Given the description of an element on the screen output the (x, y) to click on. 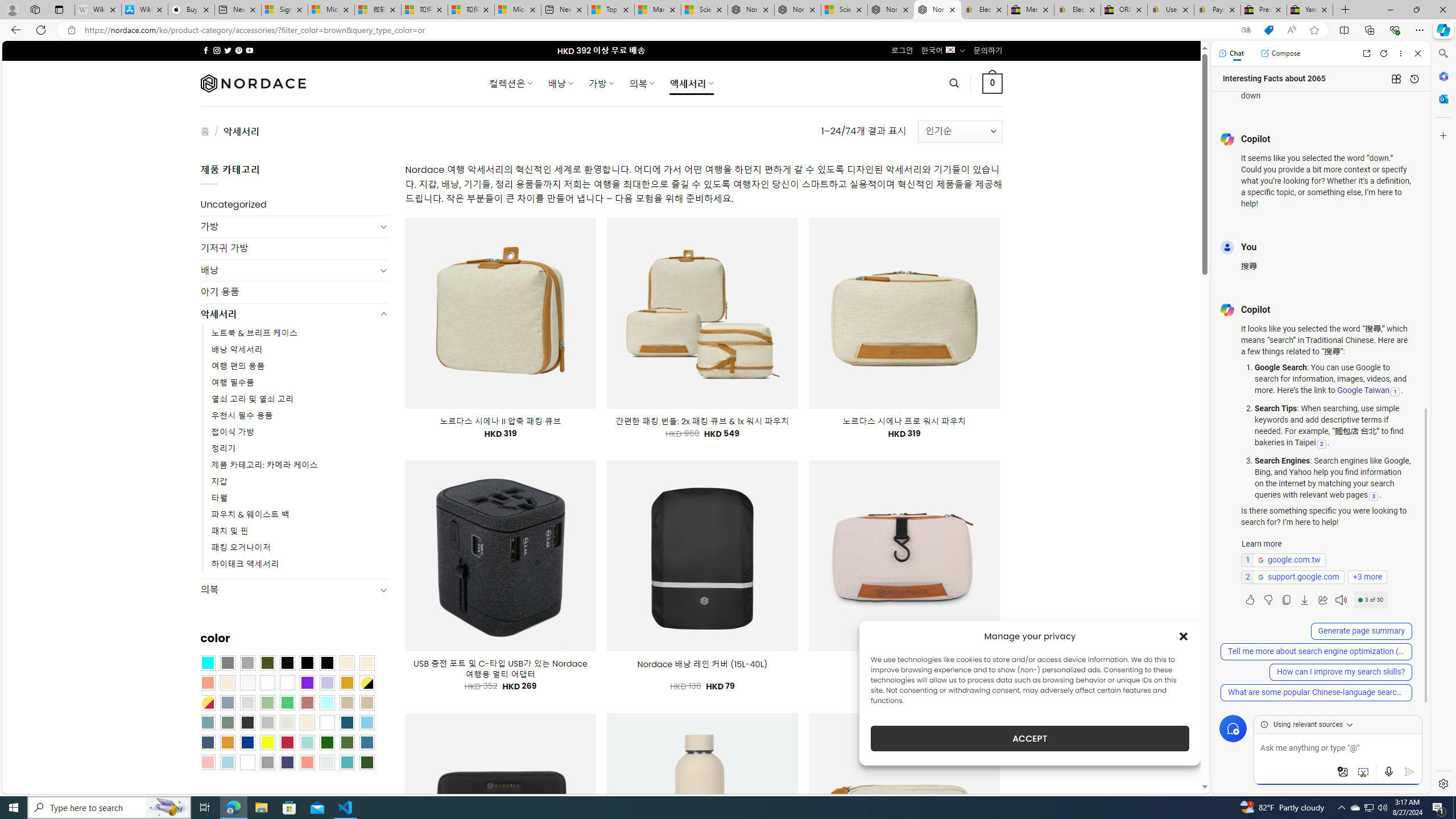
ACCEPT (1029, 738)
Compose (1280, 52)
Follow on Instagram (216, 50)
Uncategorized (294, 204)
